Given the description of an element on the screen output the (x, y) to click on. 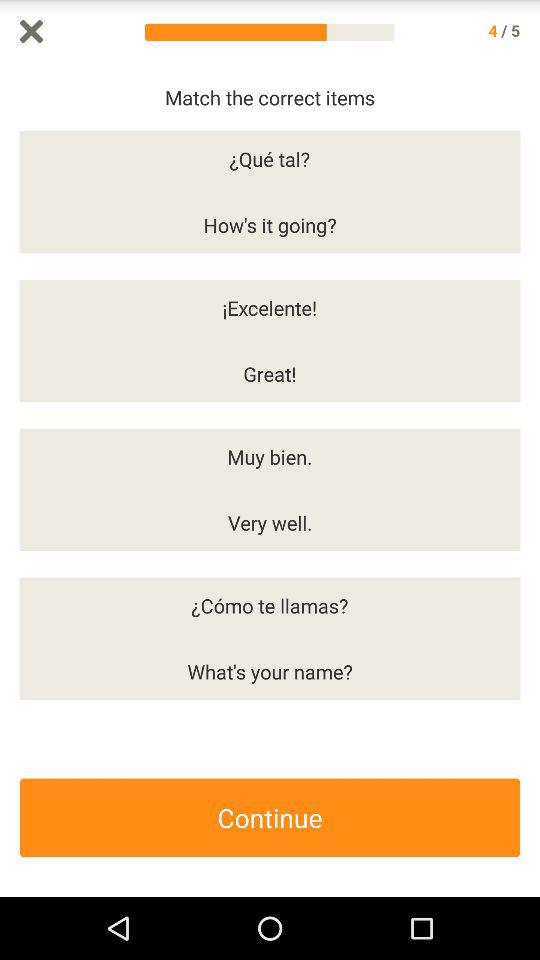
select the continue item (269, 817)
